Given the description of an element on the screen output the (x, y) to click on. 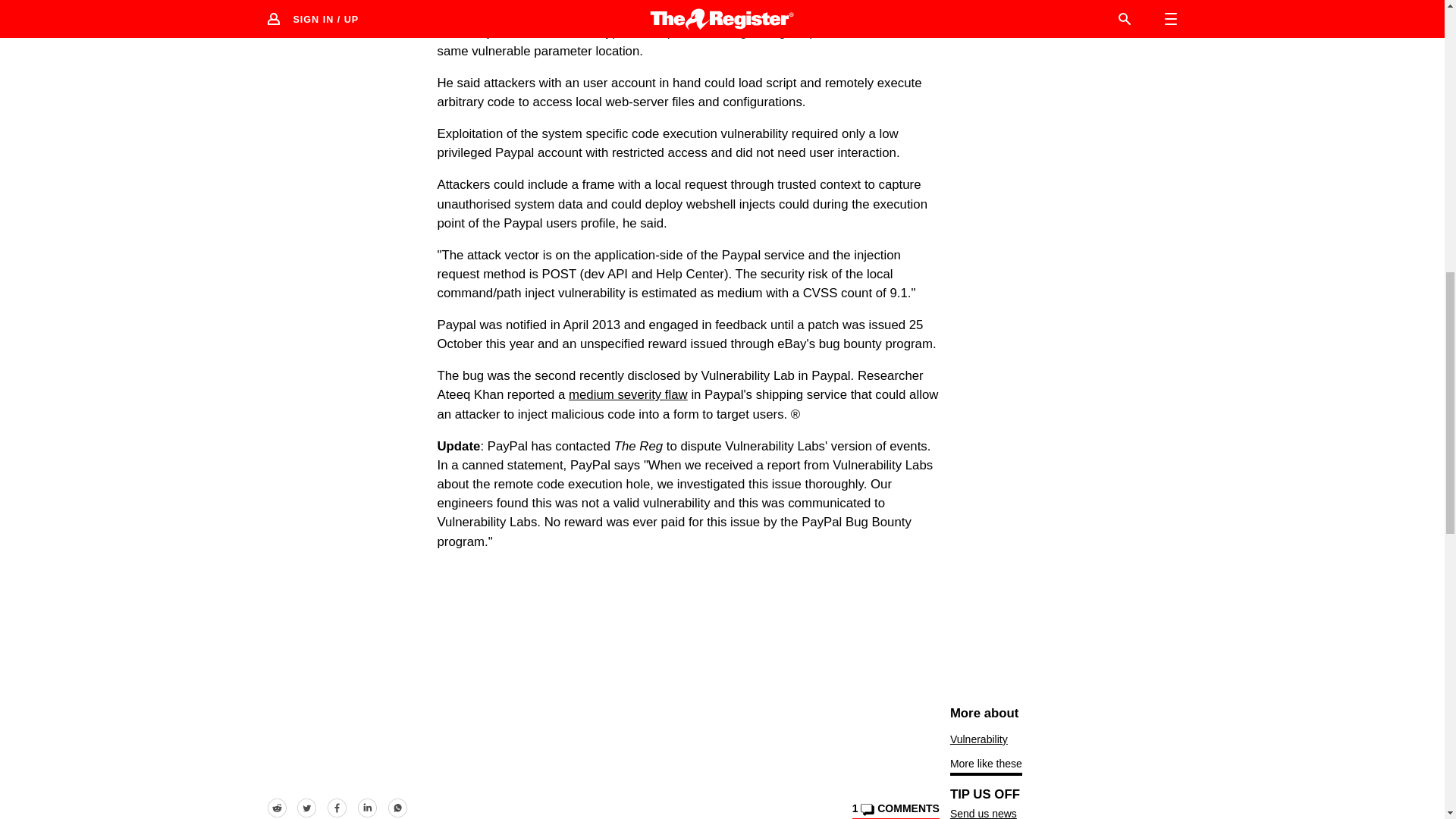
View comments on this article (895, 810)
